Given the description of an element on the screen output the (x, y) to click on. 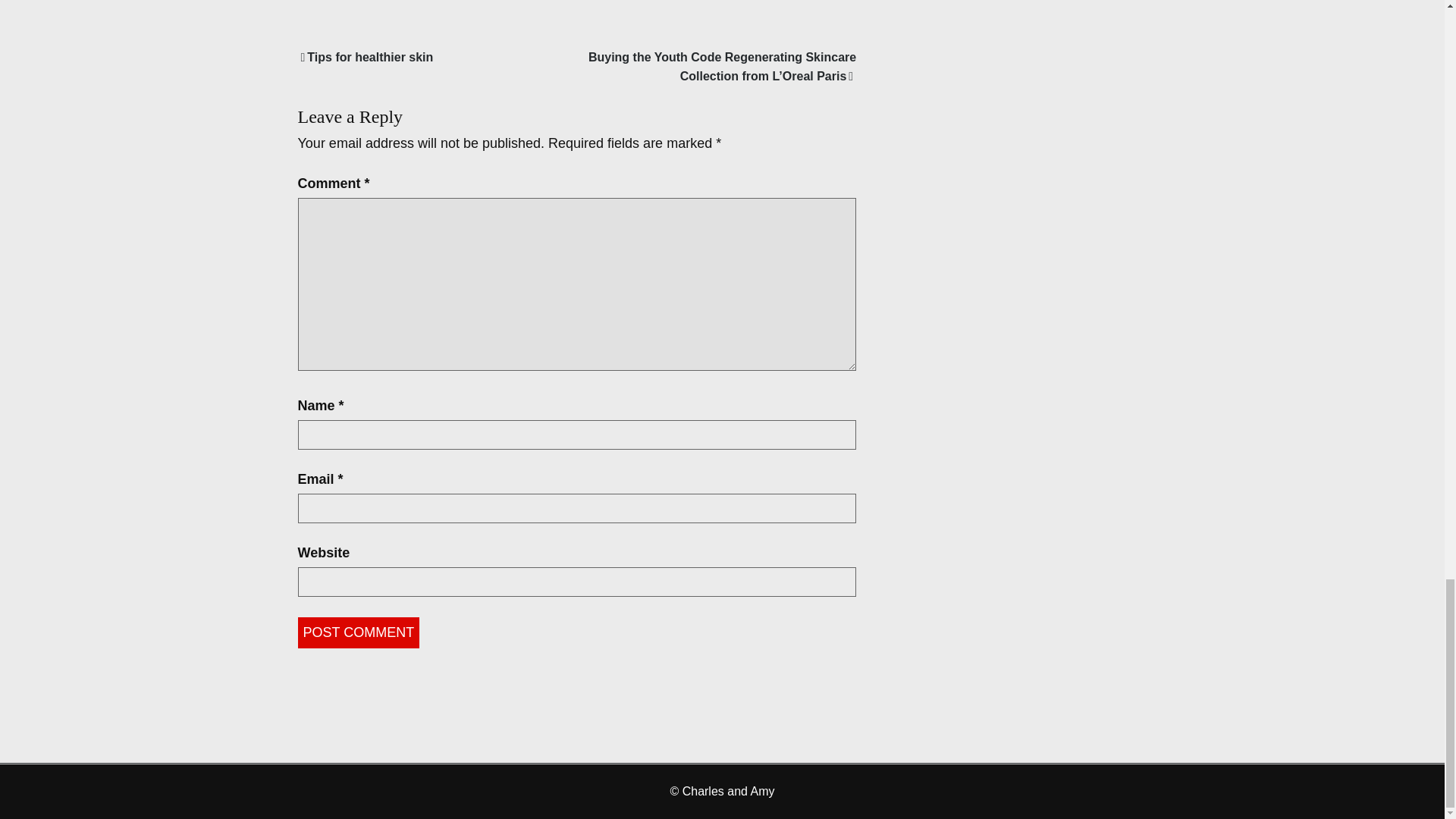
Post Comment (358, 632)
Tips for healthier skin (365, 56)
Post Comment (358, 632)
